Given the description of an element on the screen output the (x, y) to click on. 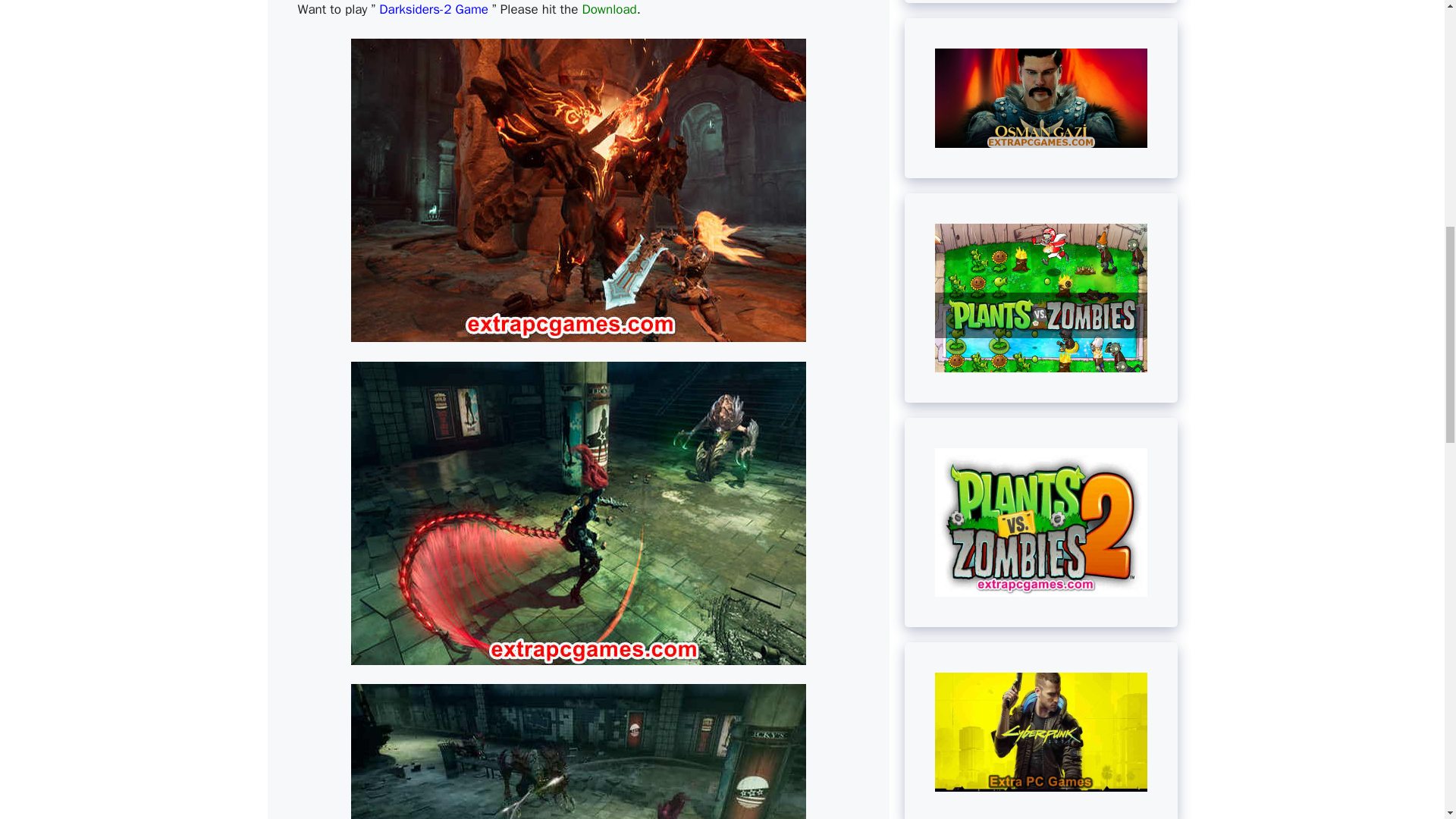
Darksiders 3 Game Free Download 4 (577, 751)
Scroll back to top (1406, 720)
